Given the description of an element on the screen output the (x, y) to click on. 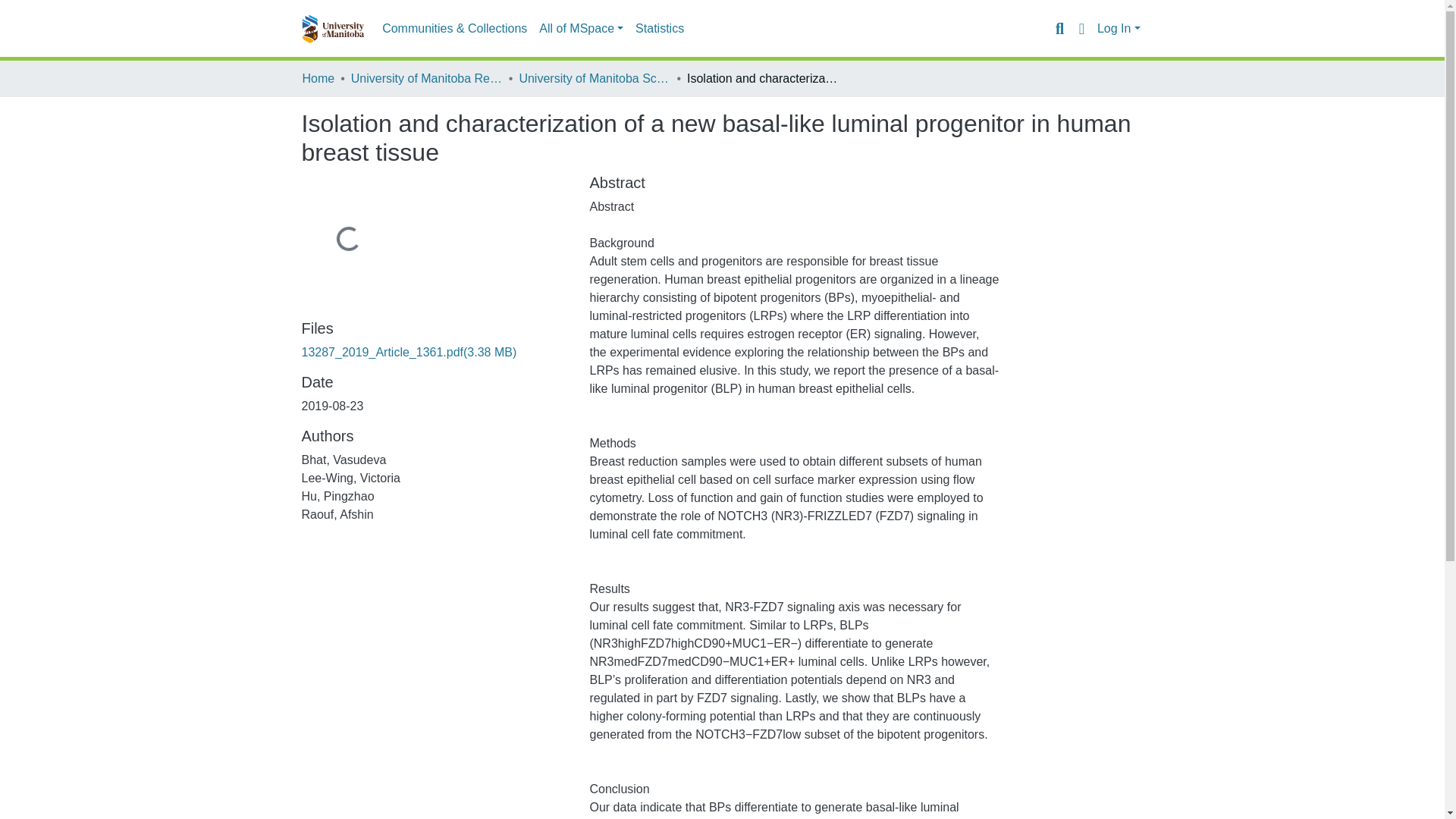
Search (1058, 28)
Log In (1118, 28)
Statistics (659, 28)
University of Manitoba Scholarship (593, 78)
Statistics (659, 28)
Home (317, 78)
All of MSpace (580, 28)
University of Manitoba Researchers (426, 78)
Language switch (1081, 28)
